Given the description of an element on the screen output the (x, y) to click on. 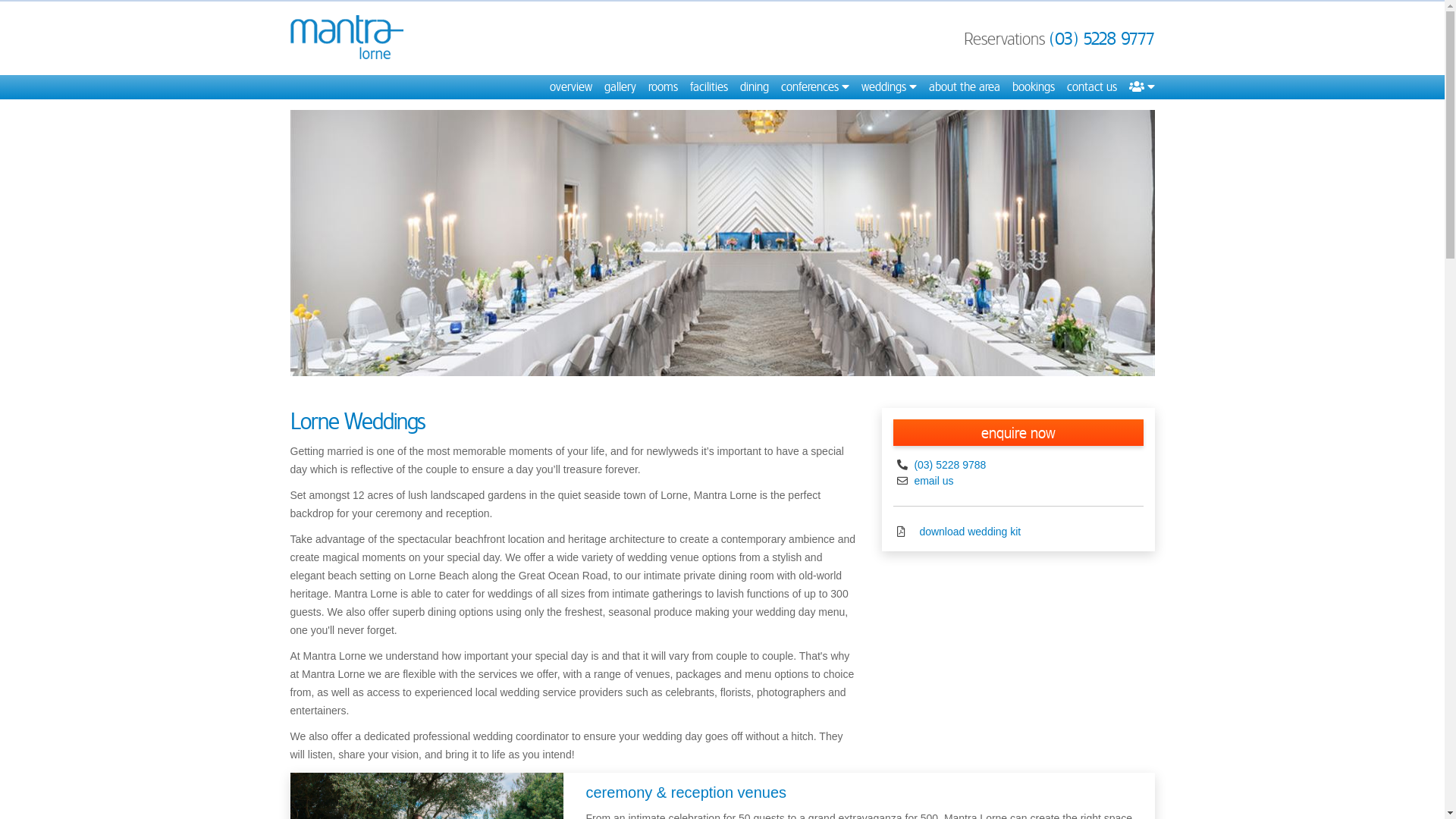
facilities Element type: text (709, 87)
conferences Element type: text (815, 87)
Wedding - Mantra Lorne Element type: hover (721, 242)
enquire now Element type: text (1018, 432)
email us Element type: text (932, 480)
dining Element type: text (754, 87)
bookings Element type: text (1032, 87)
Mantra Lorne Element type: hover (346, 37)
(03) 5228 9788 Element type: text (948, 464)
(03) 5228 9777 Element type: text (1101, 38)
overview Element type: text (570, 87)
gallery Element type: text (619, 87)
rooms Element type: text (662, 87)
about the area Element type: text (963, 87)
download wedding kit Element type: text (968, 531)
weddings Element type: text (888, 87)
contact us Element type: text (1091, 87)
